Given the description of an element on the screen output the (x, y) to click on. 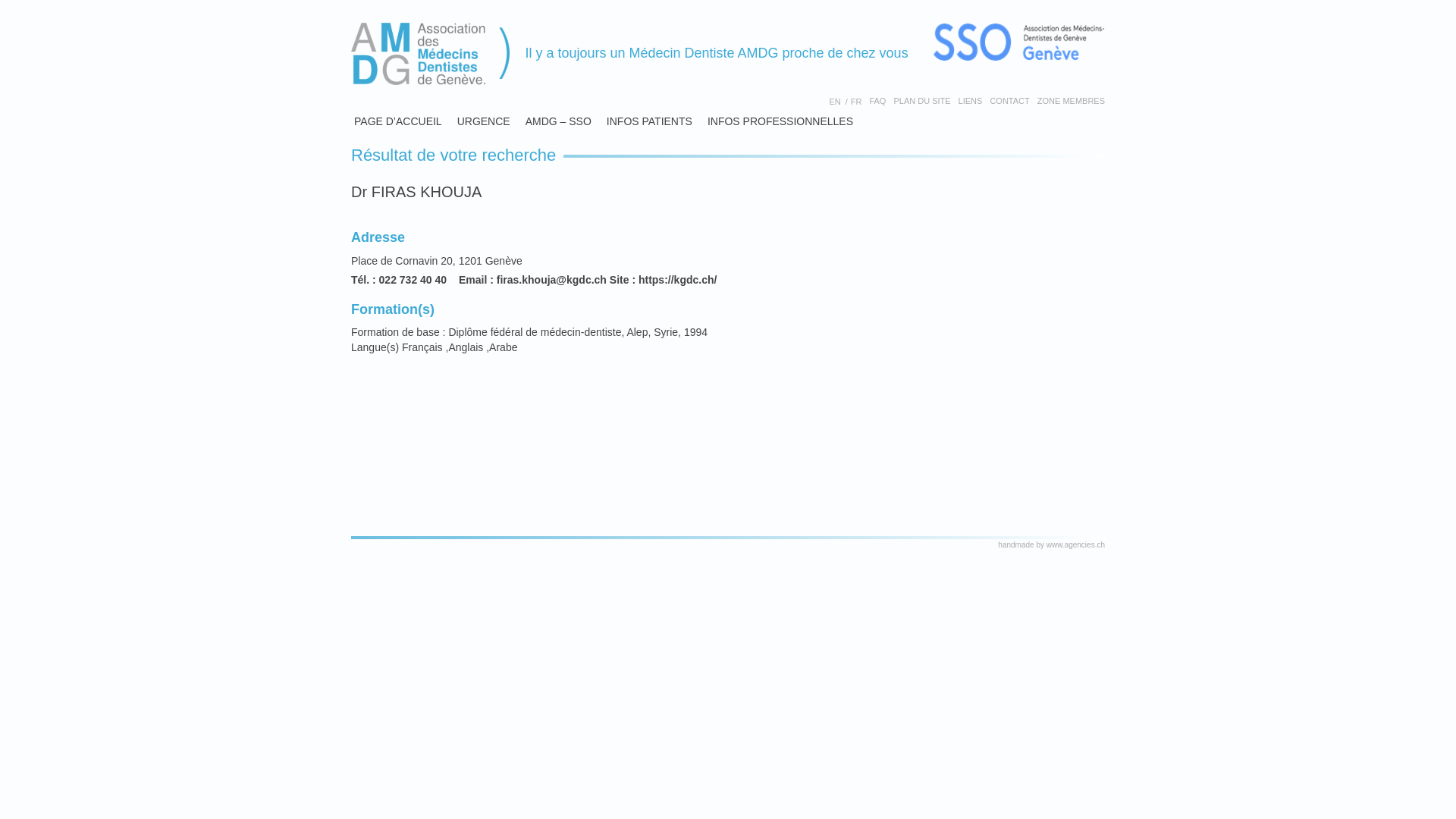
LIENS Element type: text (970, 101)
INFOS PROFESSIONNELLES Element type: text (780, 120)
FAQ Element type: text (877, 101)
www.agencies.ch Element type: text (1075, 544)
https://kgdc.ch/ Element type: text (677, 279)
FR Element type: text (856, 102)
ZONE MEMBRES Element type: text (1069, 101)
firas.khouja@kgdc.ch Element type: text (551, 279)
/ Element type: text (846, 102)
PLAN DU SITE Element type: text (921, 101)
EN Element type: text (834, 102)
INFOS PATIENTS Element type: text (649, 120)
CONTACT Element type: text (1009, 101)
URGENCE Element type: text (483, 120)
